Given the description of an element on the screen output the (x, y) to click on. 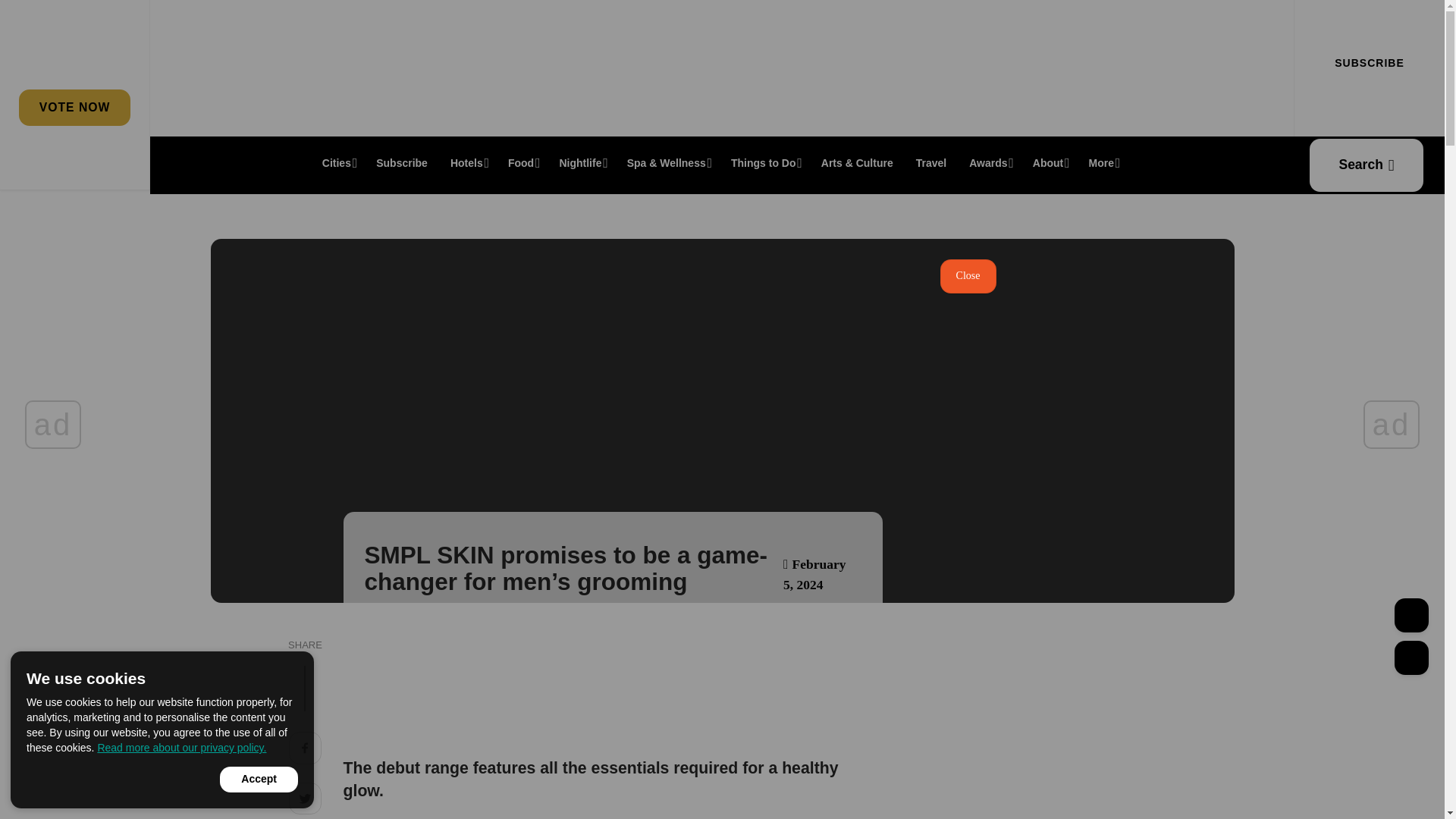
February 5, 2024 at 10:38 am (814, 574)
Cities (338, 162)
SUBSCRIBE (1369, 63)
Hotels (467, 162)
Share on Twitter (304, 800)
Close (967, 276)
VOTE NOW (74, 107)
Share on Facebook (304, 750)
Subscribe (402, 162)
